Given the description of an element on the screen output the (x, y) to click on. 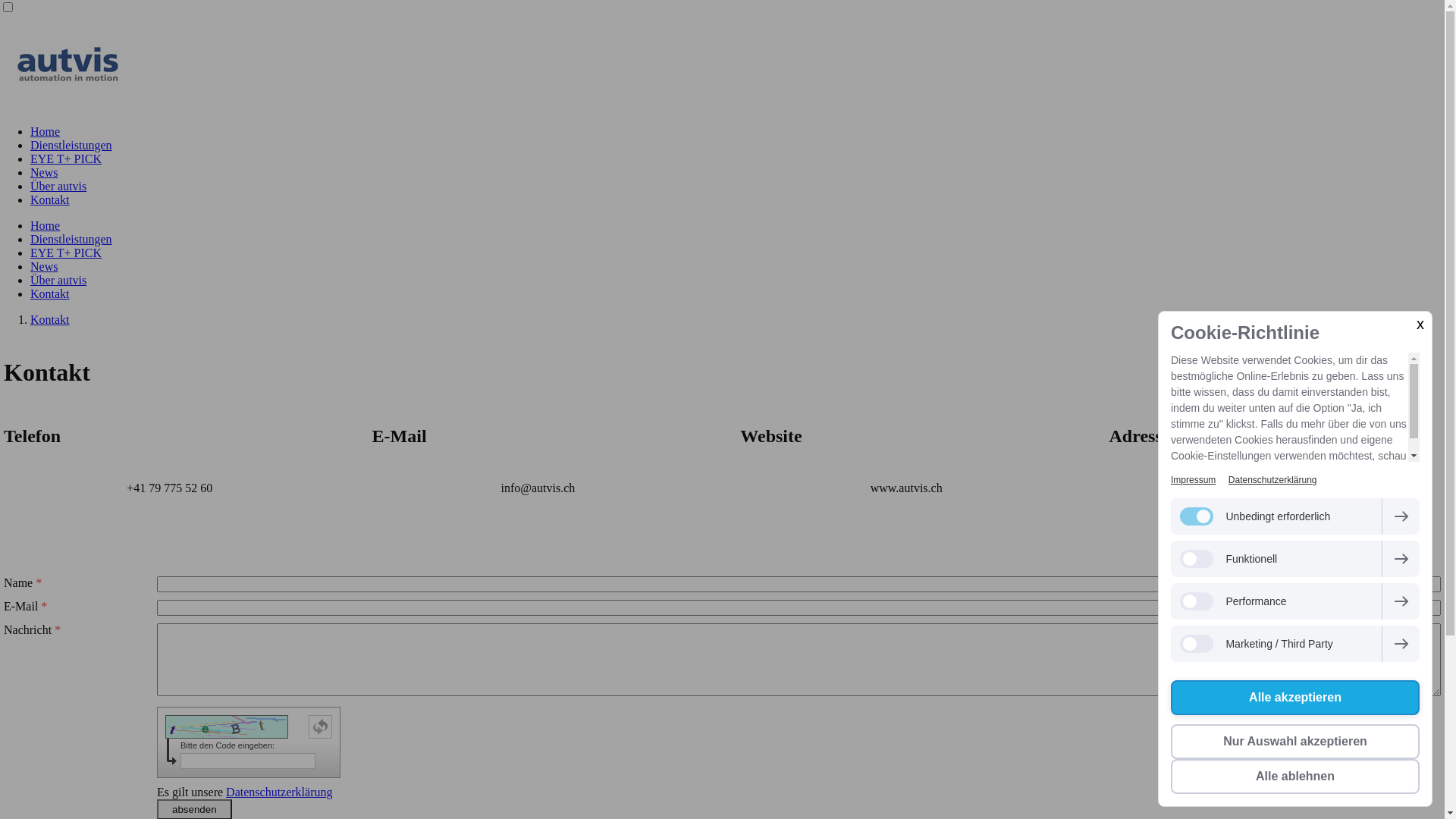
Home Element type: text (44, 131)
News Element type: text (43, 172)
Home Element type: text (44, 225)
Kontakt Element type: text (49, 199)
Impressum Element type: text (1192, 479)
Kontakt Element type: text (49, 319)
Dienstleistungen Element type: text (71, 144)
Dienstleistungen Element type: text (71, 238)
Alle ablehnen Element type: text (1294, 776)
EYE T+ PICK Element type: text (65, 252)
EYE T+ PICK Element type: text (65, 158)
Neuen Code generieren Element type: hover (320, 726)
Alle akzeptieren Element type: text (1294, 697)
Nur Auswahl akzeptieren Element type: text (1294, 741)
News Element type: text (43, 266)
Kontakt Element type: text (49, 293)
